Given the description of an element on the screen output the (x, y) to click on. 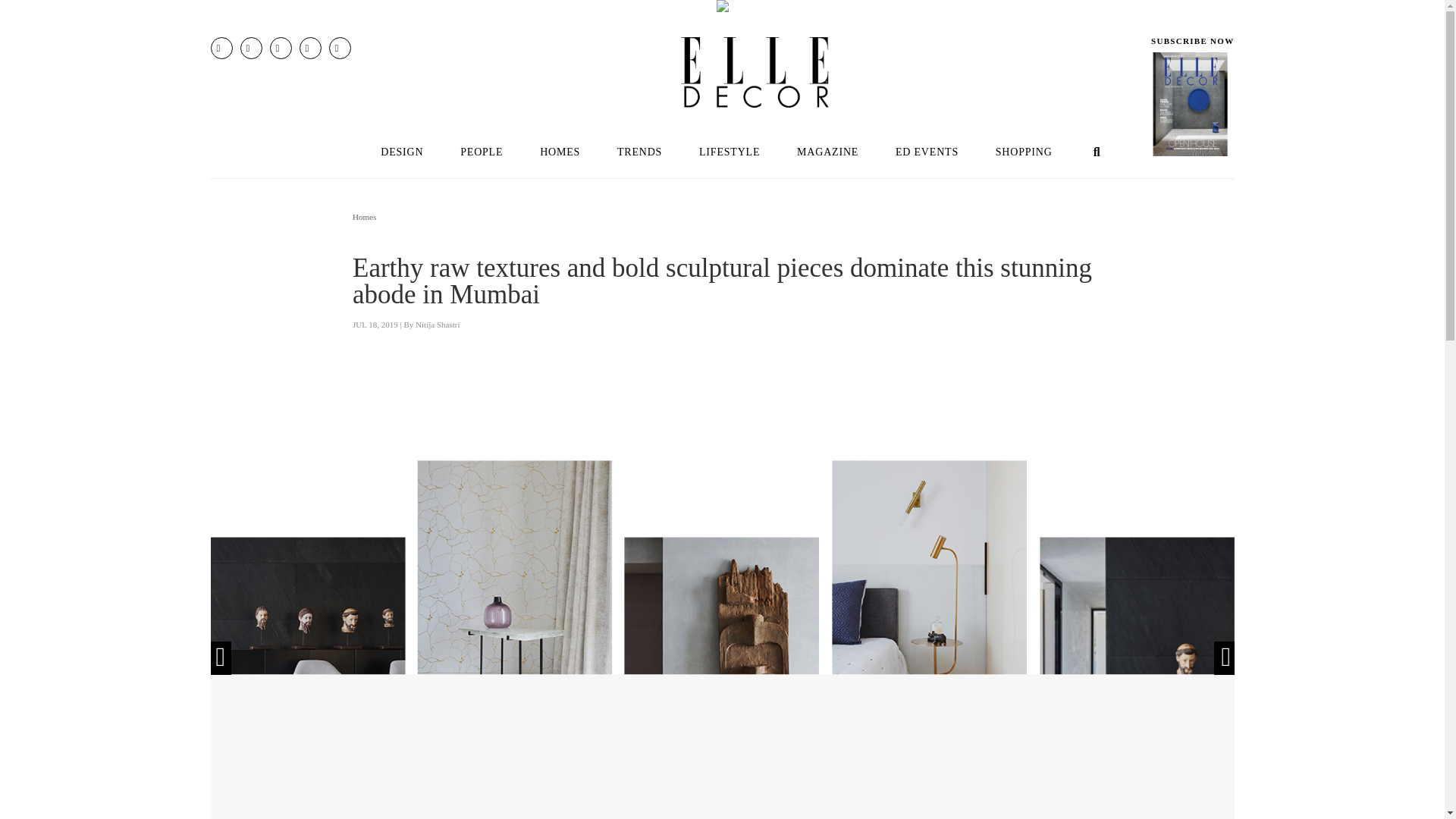
DESIGN (401, 151)
LIFESTYLE (729, 151)
MAGAZINE (827, 151)
TRENDS (639, 151)
HOMES (559, 151)
SHOPPING (1023, 151)
ED EVENTS (927, 151)
PEOPLE (481, 151)
